Given the description of an element on the screen output the (x, y) to click on. 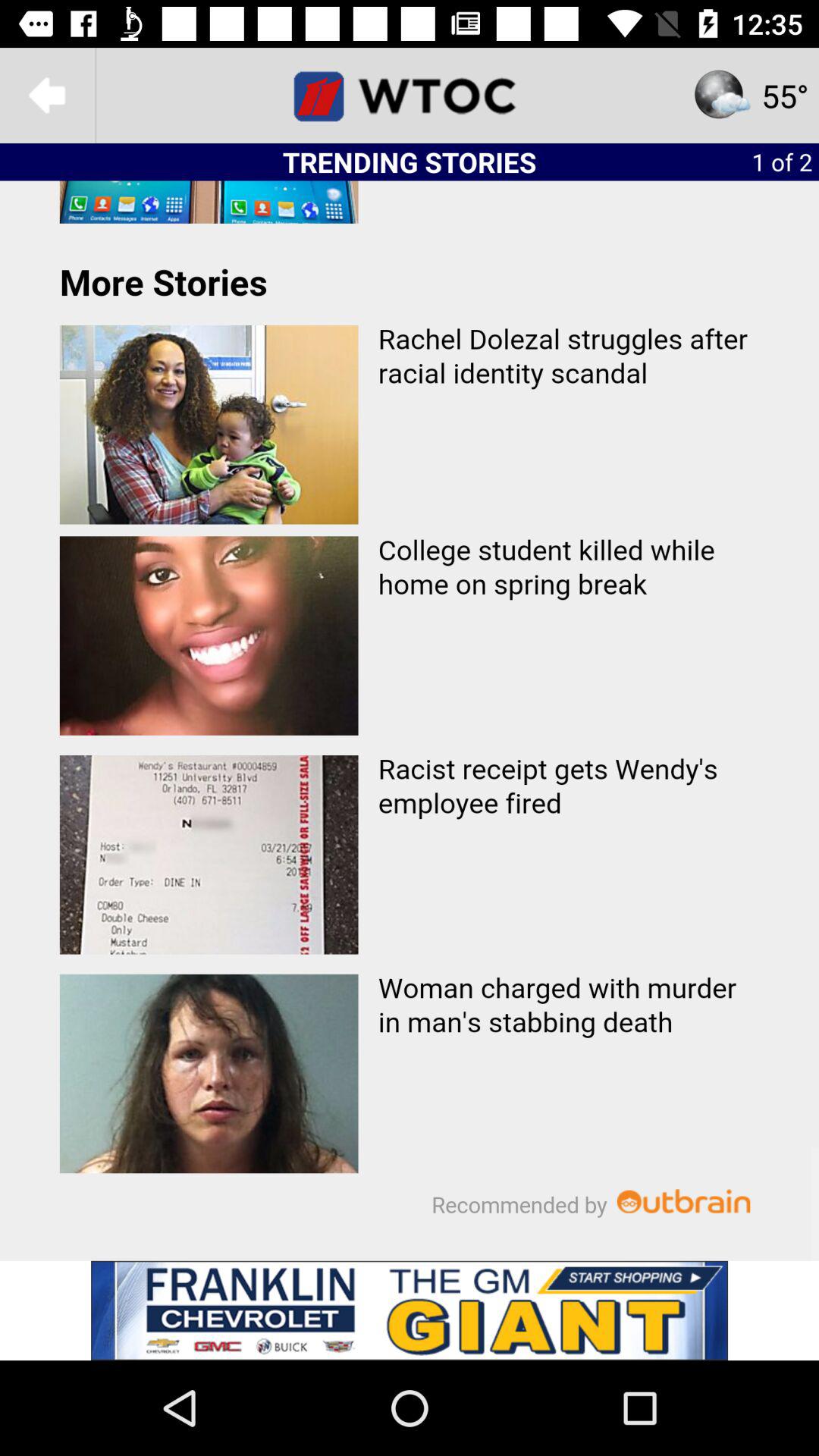
show wtoc information (409, 95)
